Given the description of an element on the screen output the (x, y) to click on. 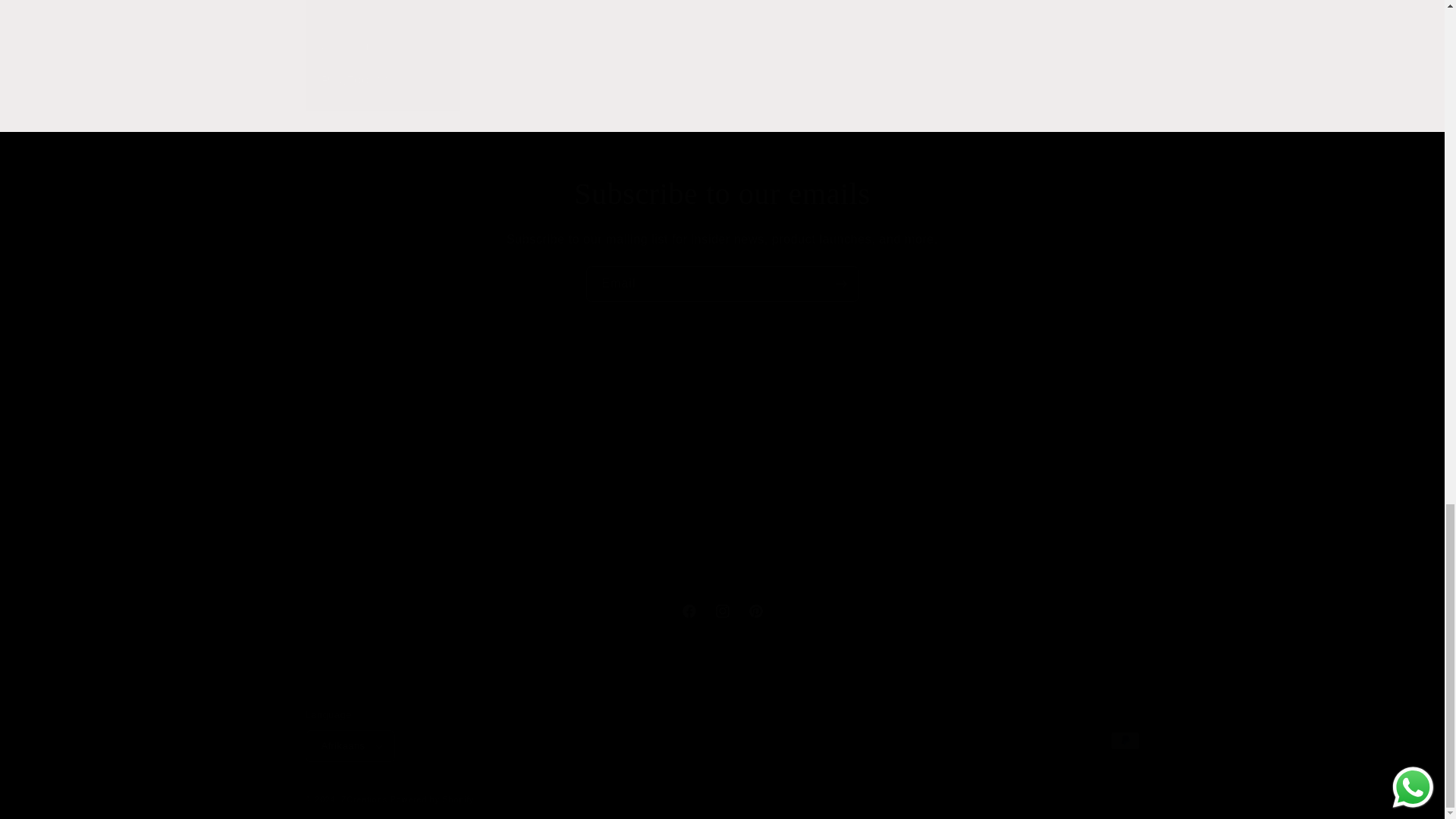
Email (721, 611)
Subscribe to our emails (722, 284)
